Given the description of an element on the screen output the (x, y) to click on. 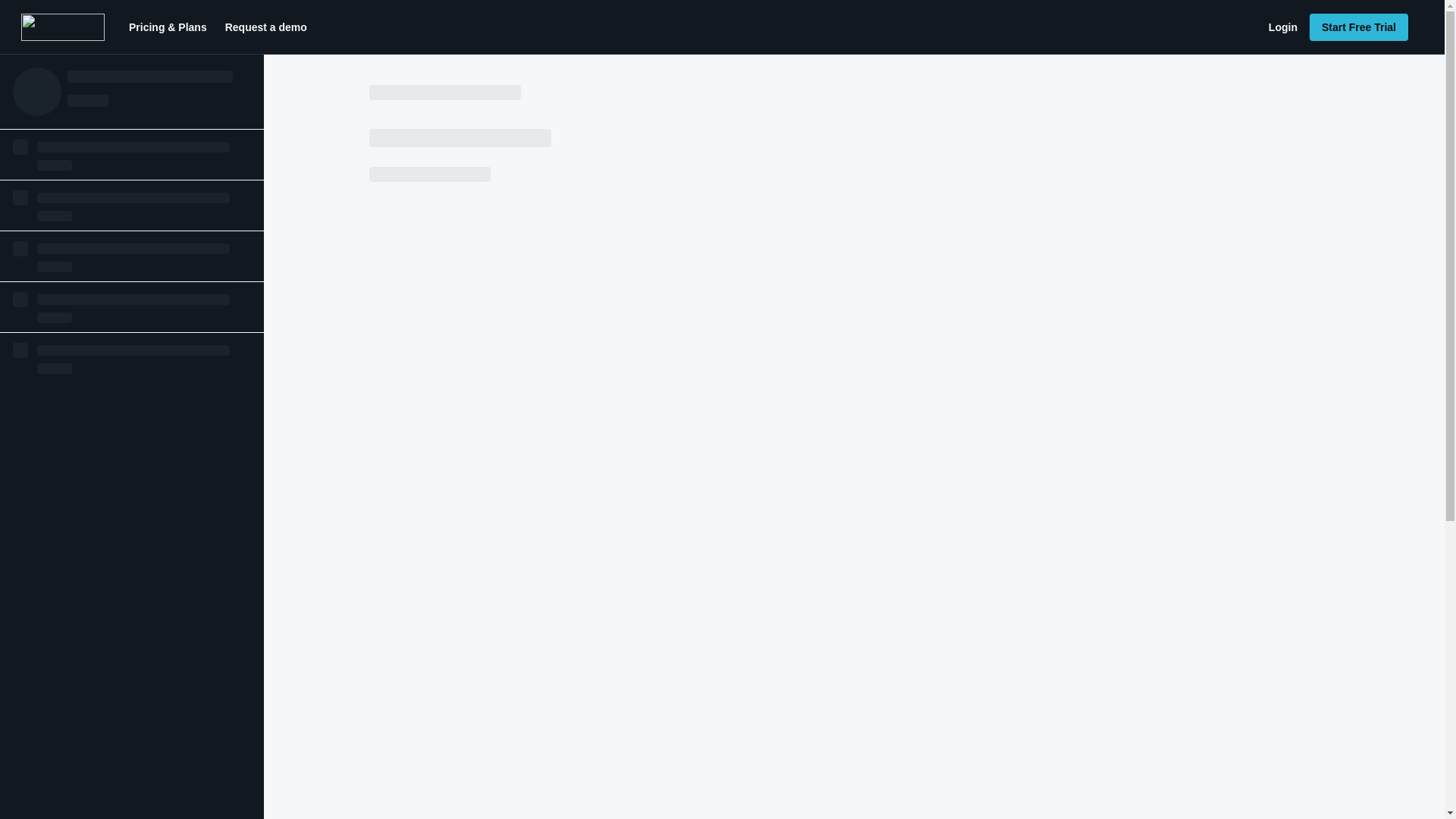
Login (1282, 26)
Request a demo (266, 26)
Start Free Trial (1357, 26)
